Given the description of an element on the screen output the (x, y) to click on. 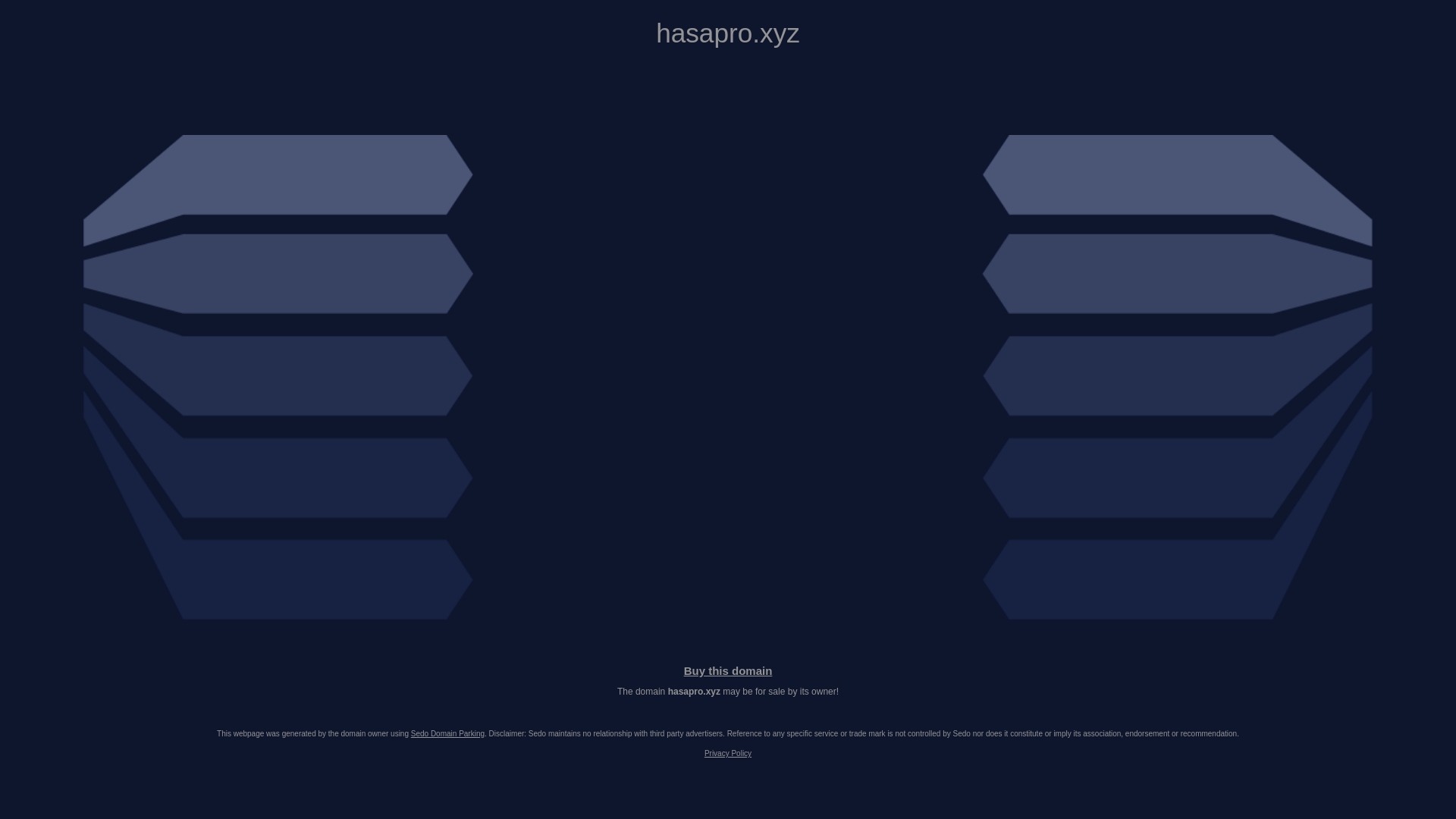
Buy this domain Element type: text (728, 670)
The domain hasapro.xyz may be for sale by its owner! Element type: text (727, 691)
Sedo Domain Parking Element type: text (447, 733)
Privacy Policy Element type: text (727, 753)
